Given the description of an element on the screen output the (x, y) to click on. 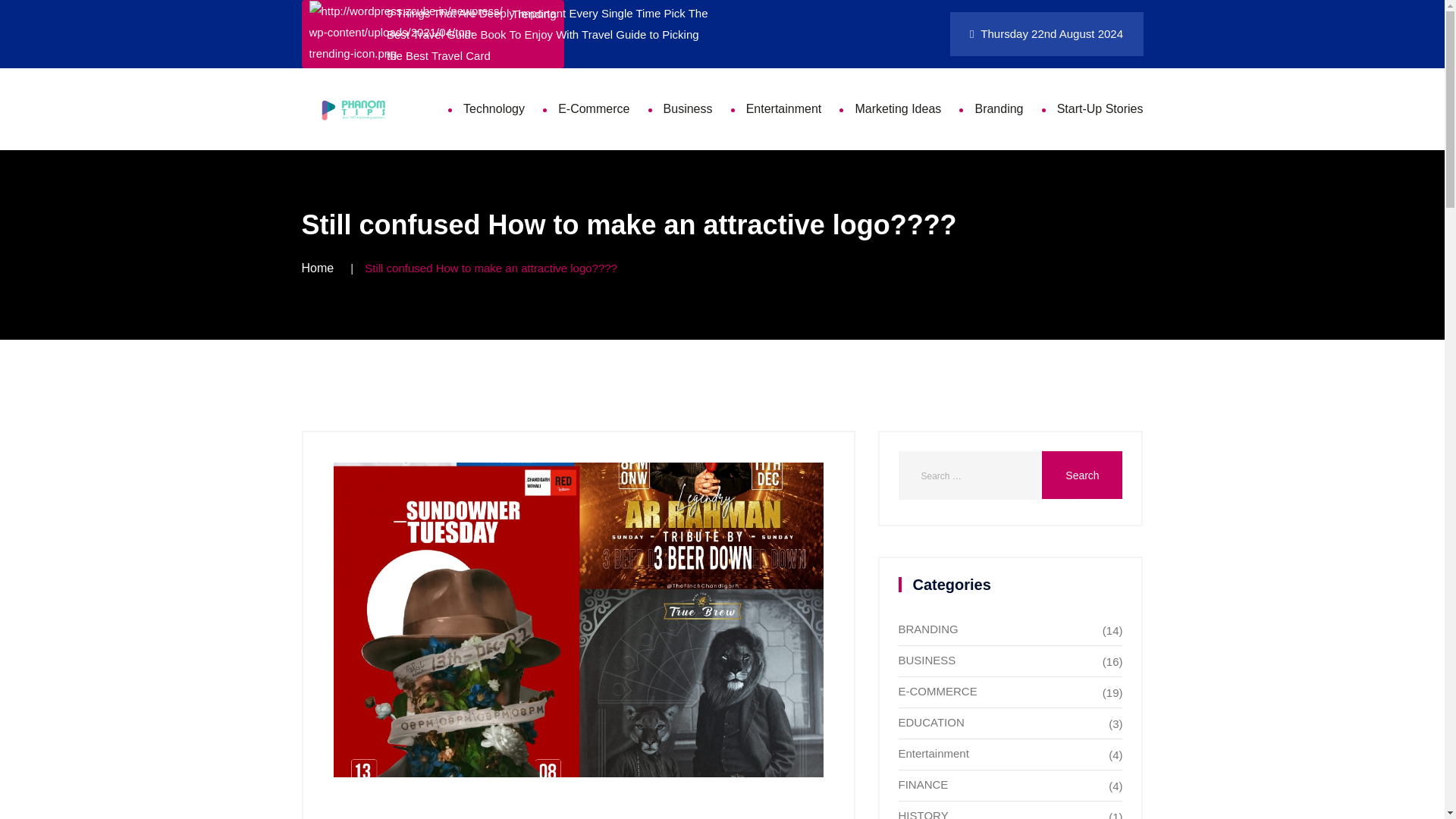
Search (1082, 474)
Home (317, 267)
Trending (432, 33)
Search (1082, 474)
Start-Up Stories (1099, 108)
Entertainment (783, 108)
Marketing Ideas (897, 108)
